Given the description of an element on the screen output the (x, y) to click on. 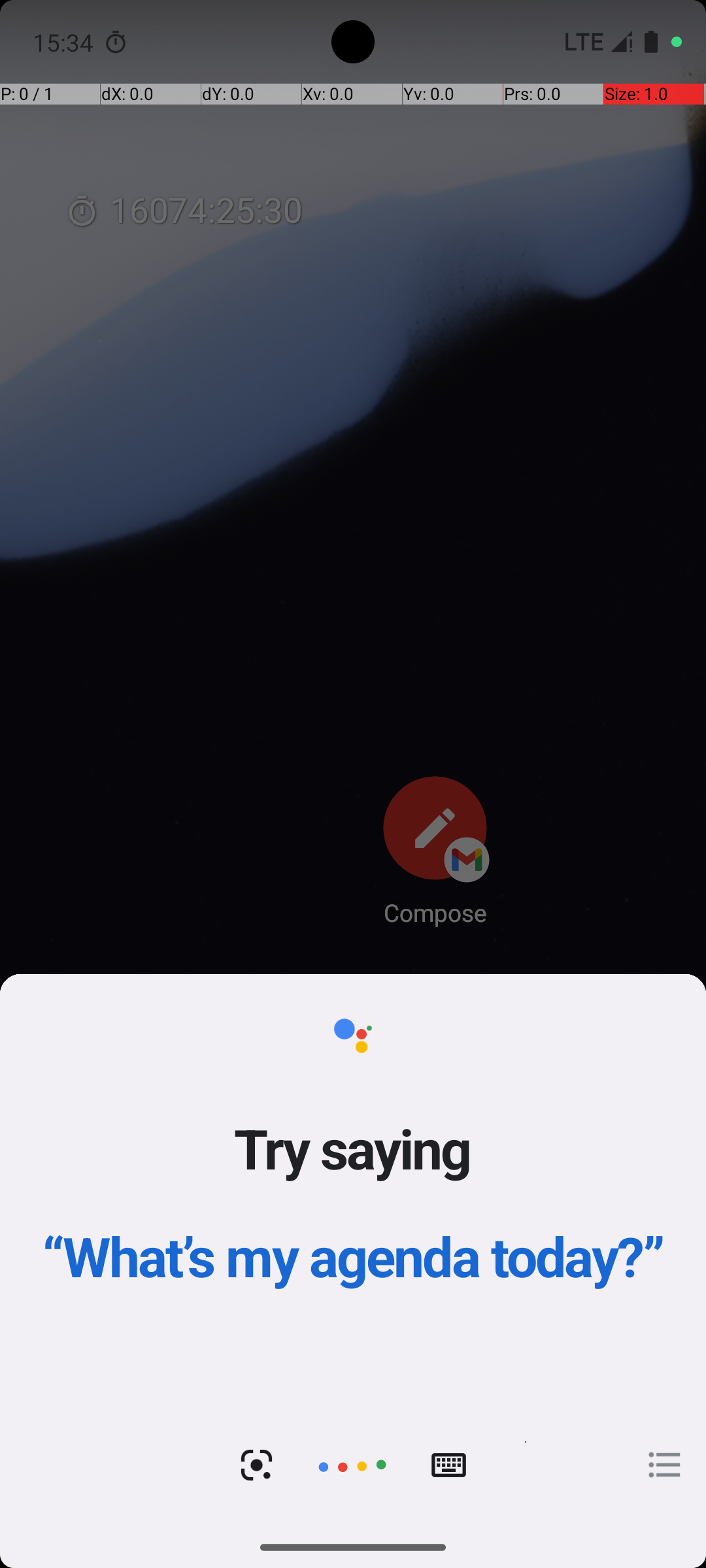
Google Assistant greeting container. Element type: android.widget.LinearLayout (353, 1188)
Tap to cancel Element type: android.view.View (351, 1465)
Google Assistant greeting. Element type: android.widget.FrameLayout (353, 1250)
Try saying Element type: android.widget.TextView (352, 1147)
“What’s my agenda today?” Element type: android.widget.TextView (352, 1255)
